Given the description of an element on the screen output the (x, y) to click on. 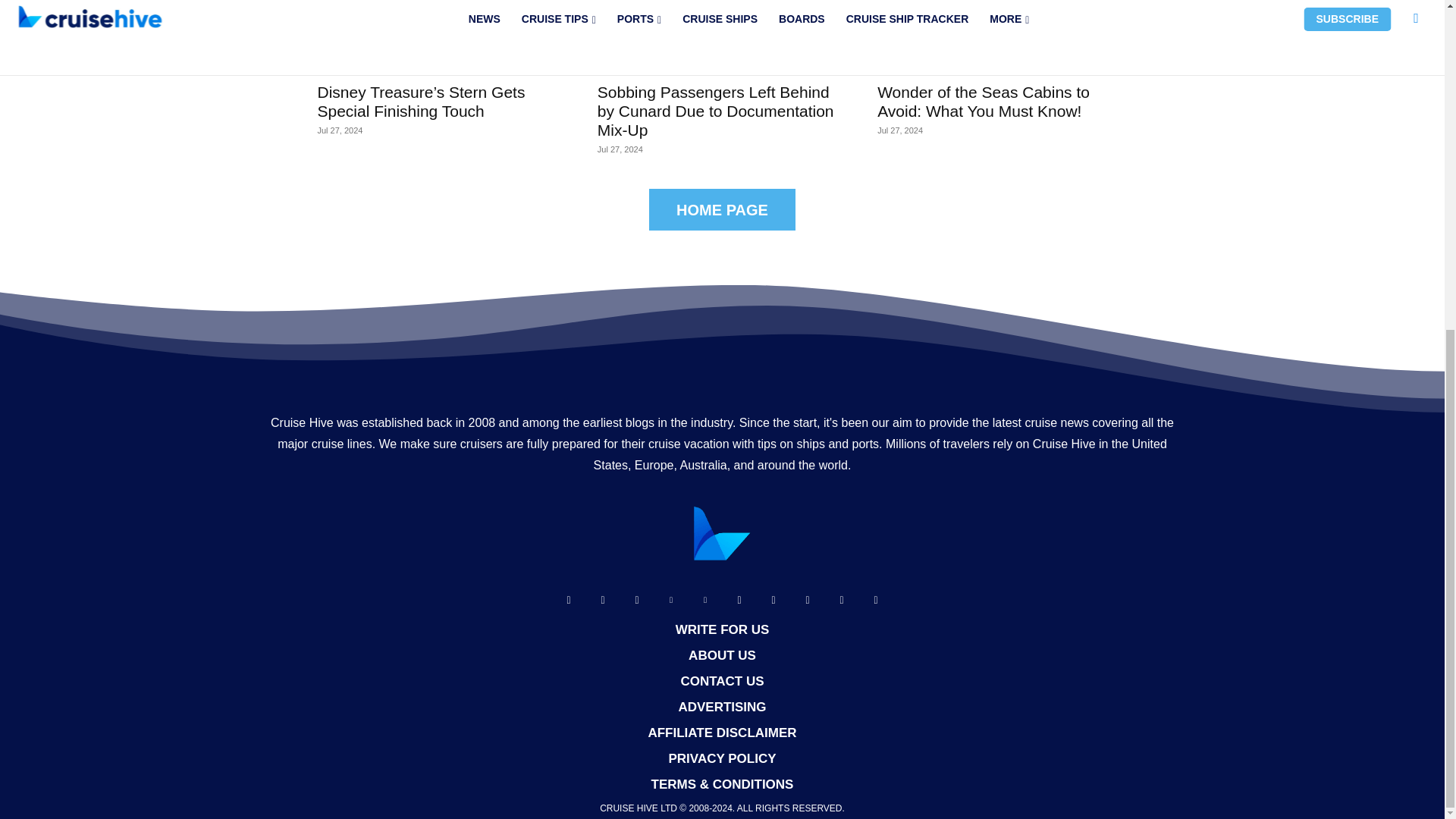
Wonder of the Seas Cabins to Avoid: What You Must Know! (983, 101)
Wonder of the Seas Cabins to Avoid: What You Must Know! (1001, 36)
